Given the description of an element on the screen output the (x, y) to click on. 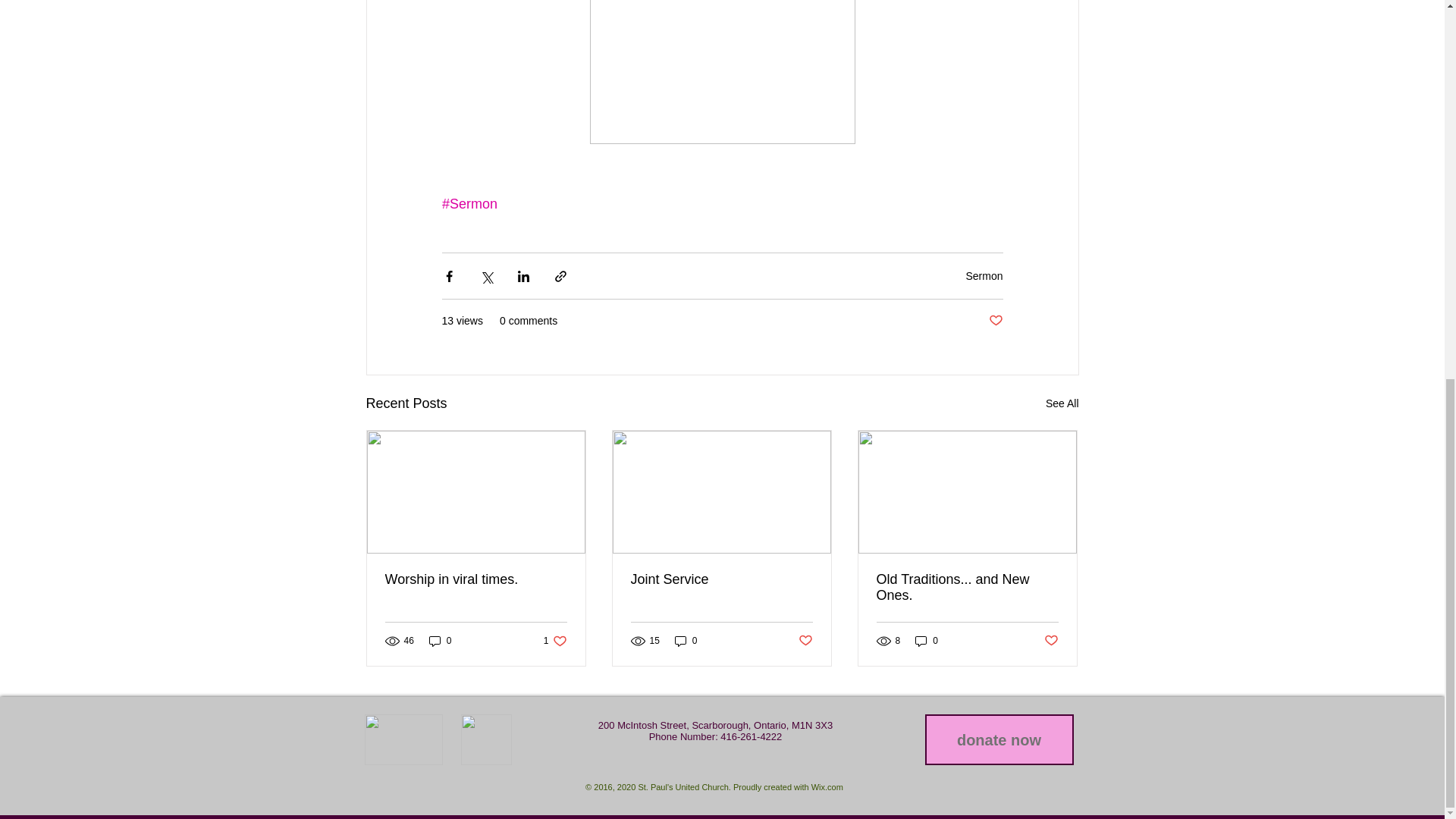
Sermon (984, 275)
Post not marked as liked (995, 320)
Worship in viral times. (555, 640)
0 (476, 579)
See All (440, 640)
